Given the description of an element on the screen output the (x, y) to click on. 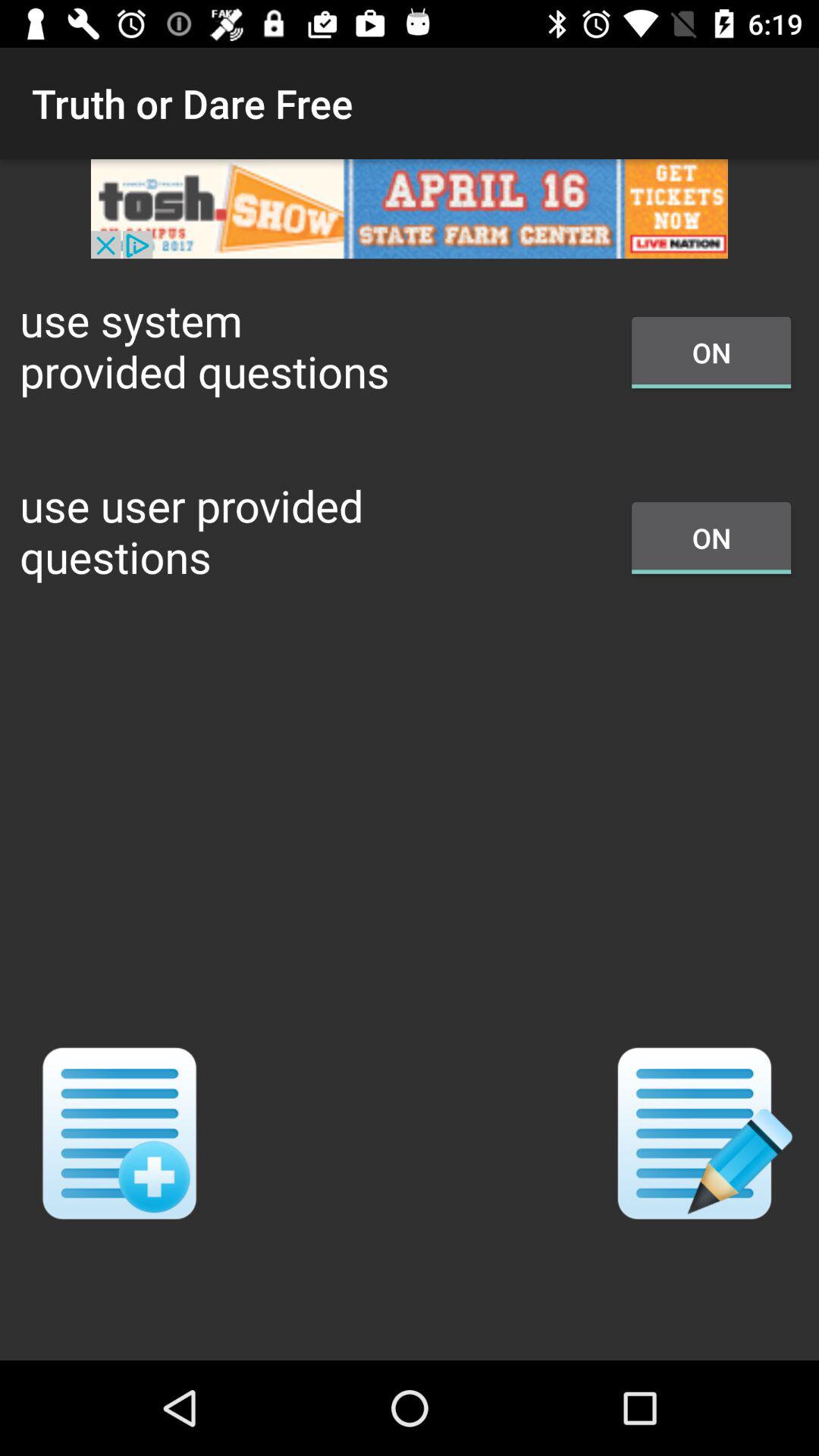
go to notes (699, 1133)
